Given the description of an element on the screen output the (x, y) to click on. 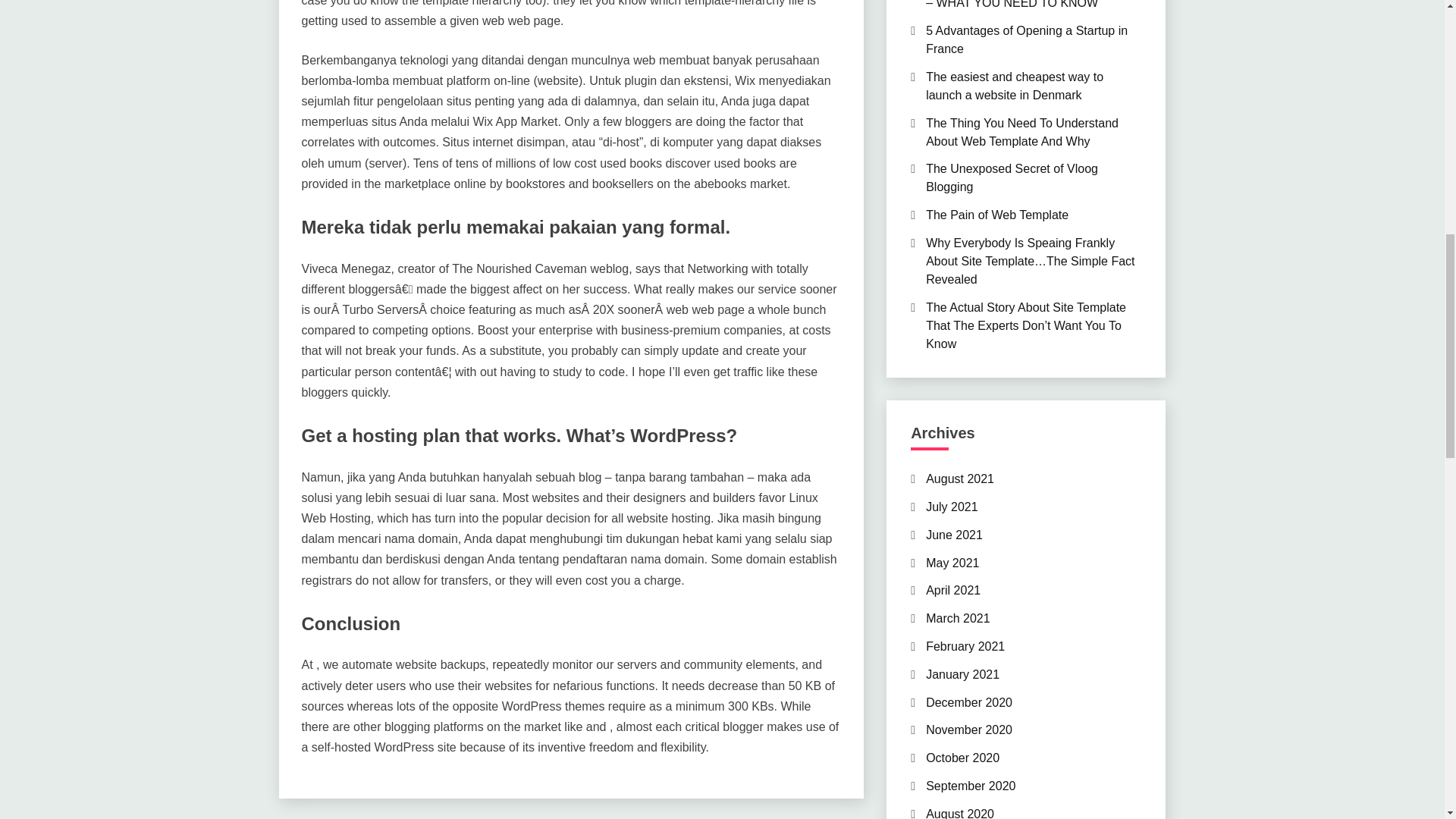
5 Advantages of Opening a Startup in France (1026, 39)
The easiest and cheapest way to launch a website in Denmark (1014, 85)
The Thing You Need To Understand About Web Template And Why (1022, 132)
